Given the description of an element on the screen output the (x, y) to click on. 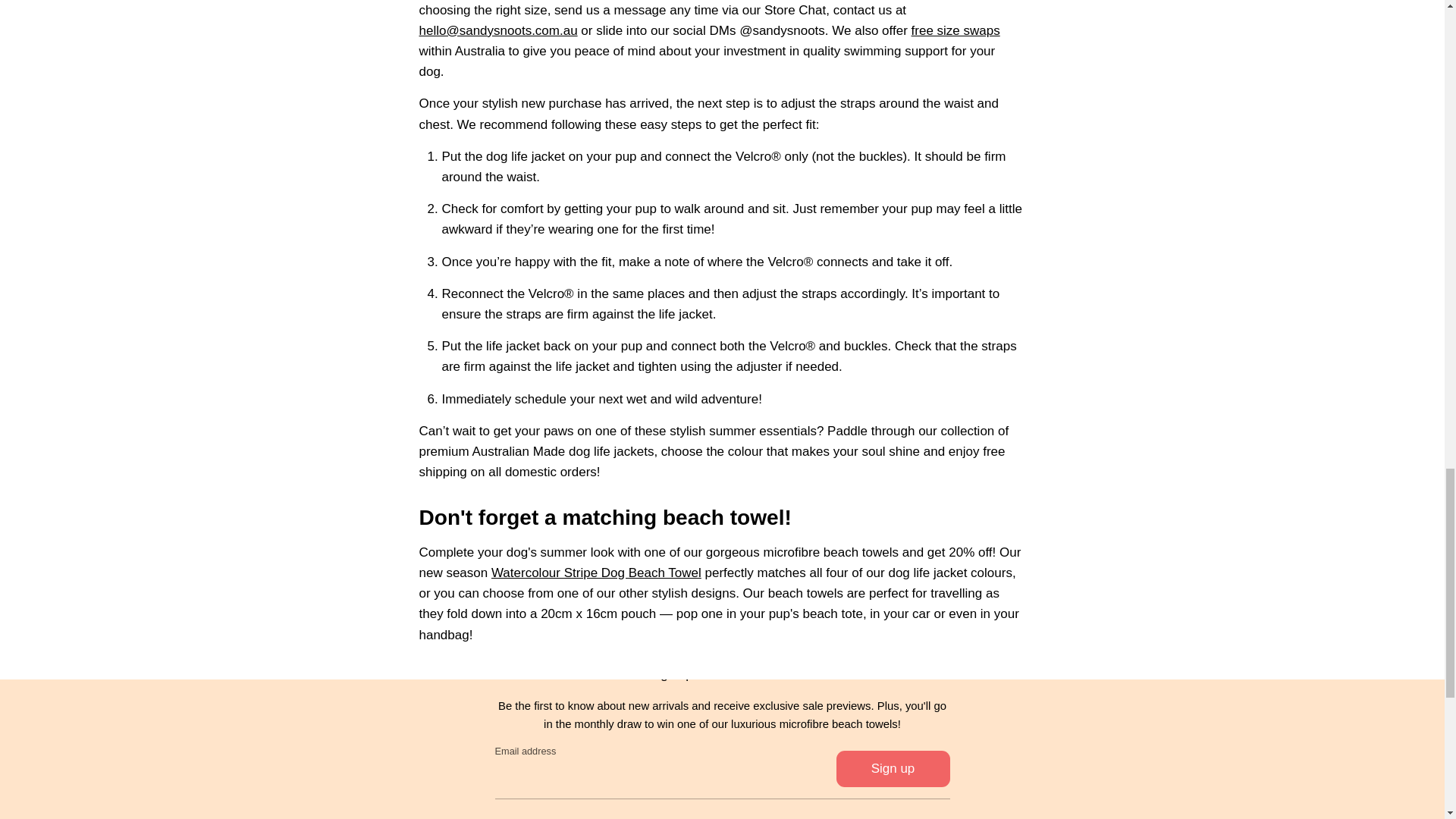
Dog Rashie Size Swap Policy (955, 30)
